Given the description of an element on the screen output the (x, y) to click on. 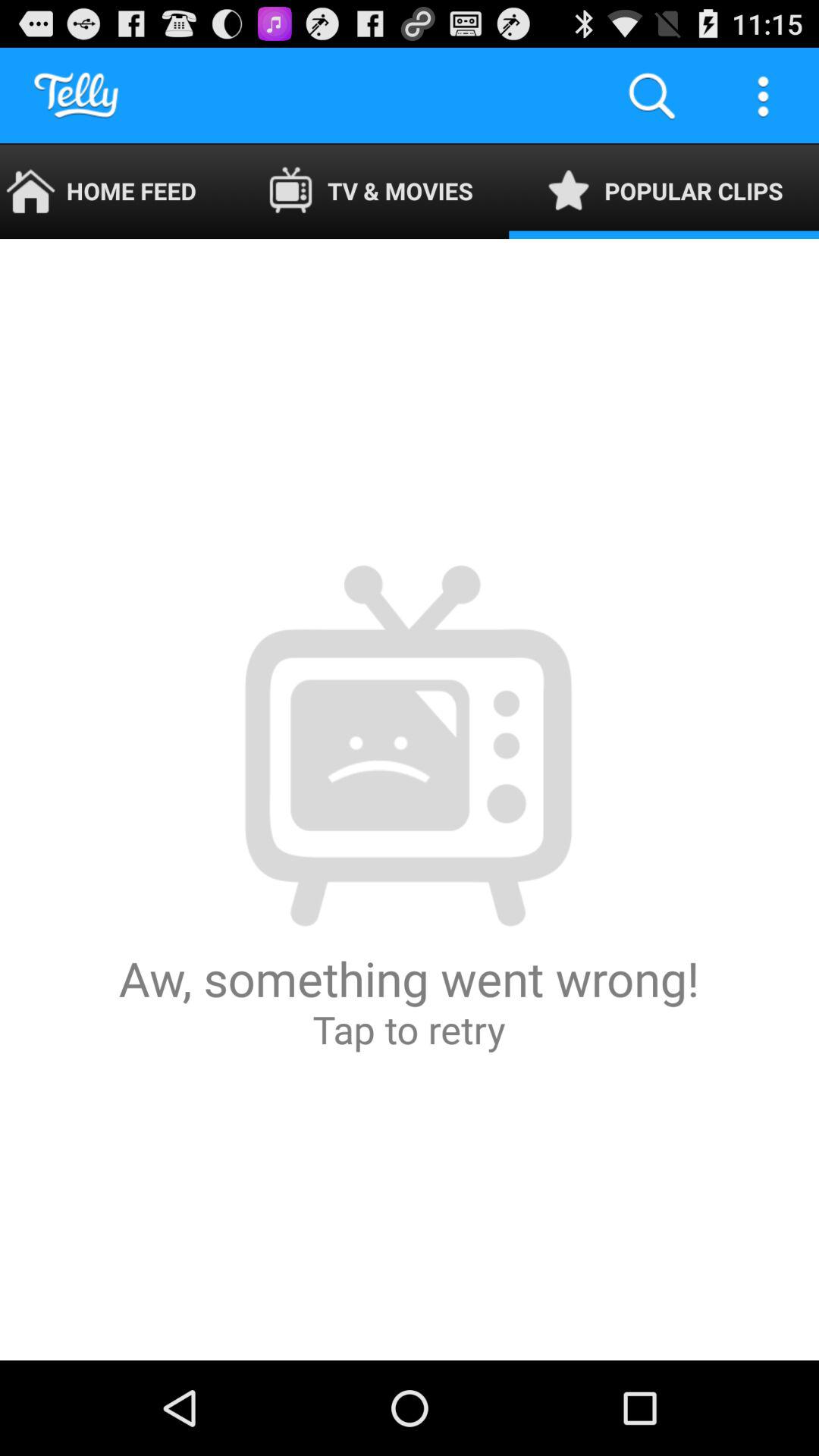
turn on the aw something went app (409, 799)
